Given the description of an element on the screen output the (x, y) to click on. 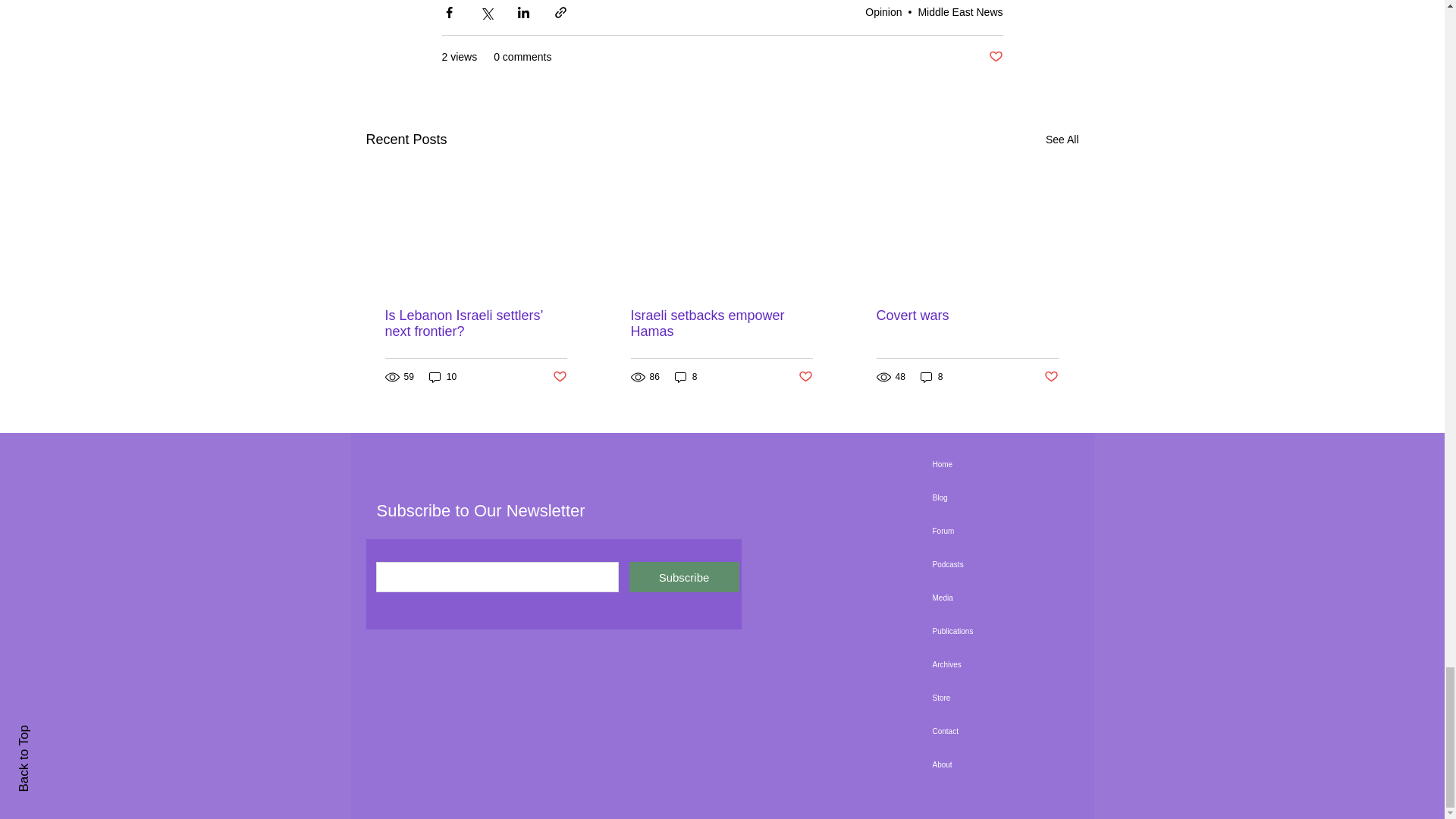
Opinion (882, 11)
Israeli setbacks empower Hamas (721, 323)
8 (685, 377)
Post not marked as liked (1050, 376)
See All (1061, 139)
Post not marked as liked (995, 57)
Post not marked as liked (558, 376)
8 (931, 377)
Middle East News (960, 11)
Post not marked as liked (804, 376)
